Given the description of an element on the screen output the (x, y) to click on. 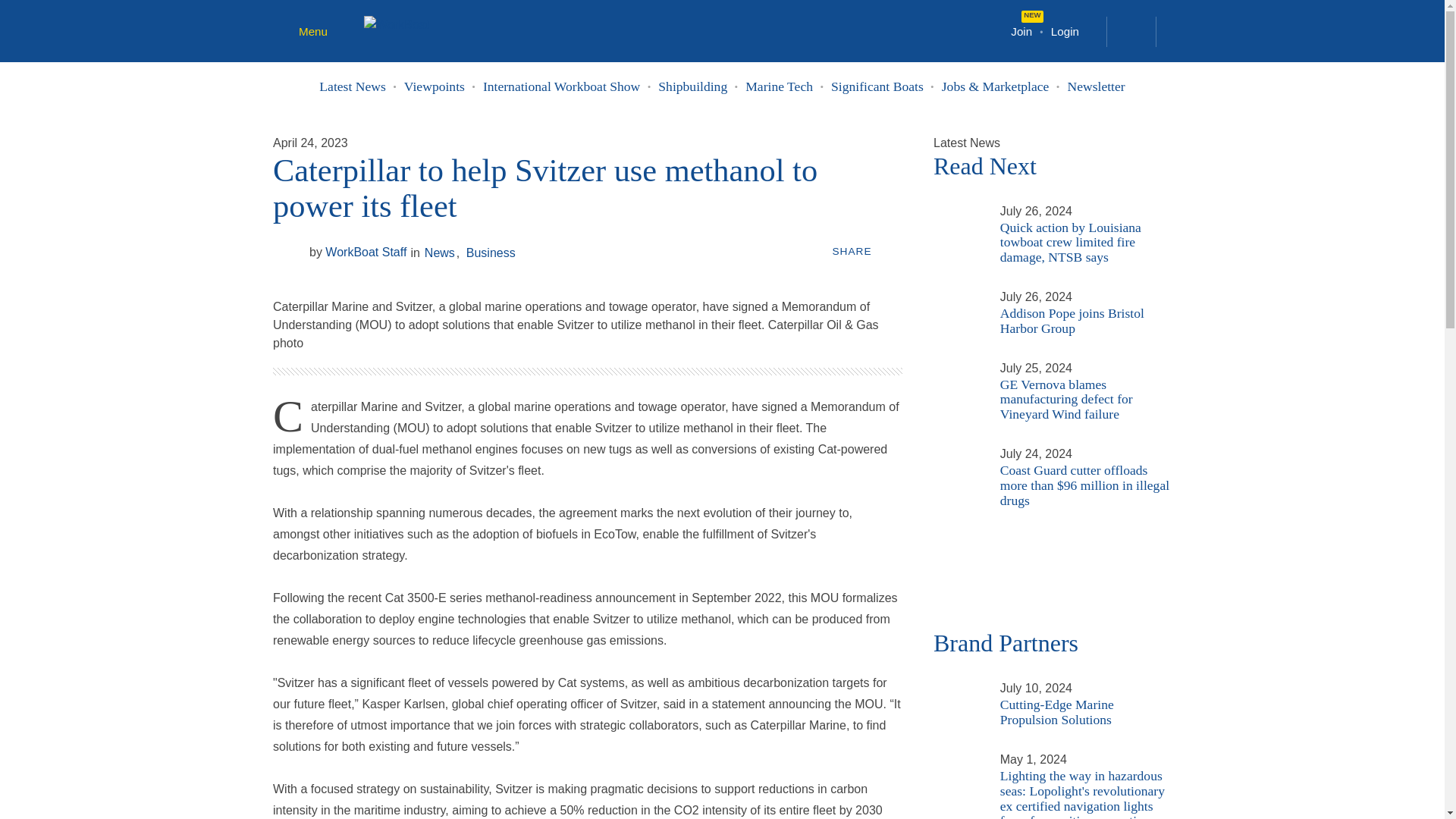
WorkBoat Staff (287, 251)
Addison Pope joins Bristol Harbor Group (957, 295)
WorkBoat (396, 23)
WorkBoat Staff (357, 252)
